Given the description of an element on the screen output the (x, y) to click on. 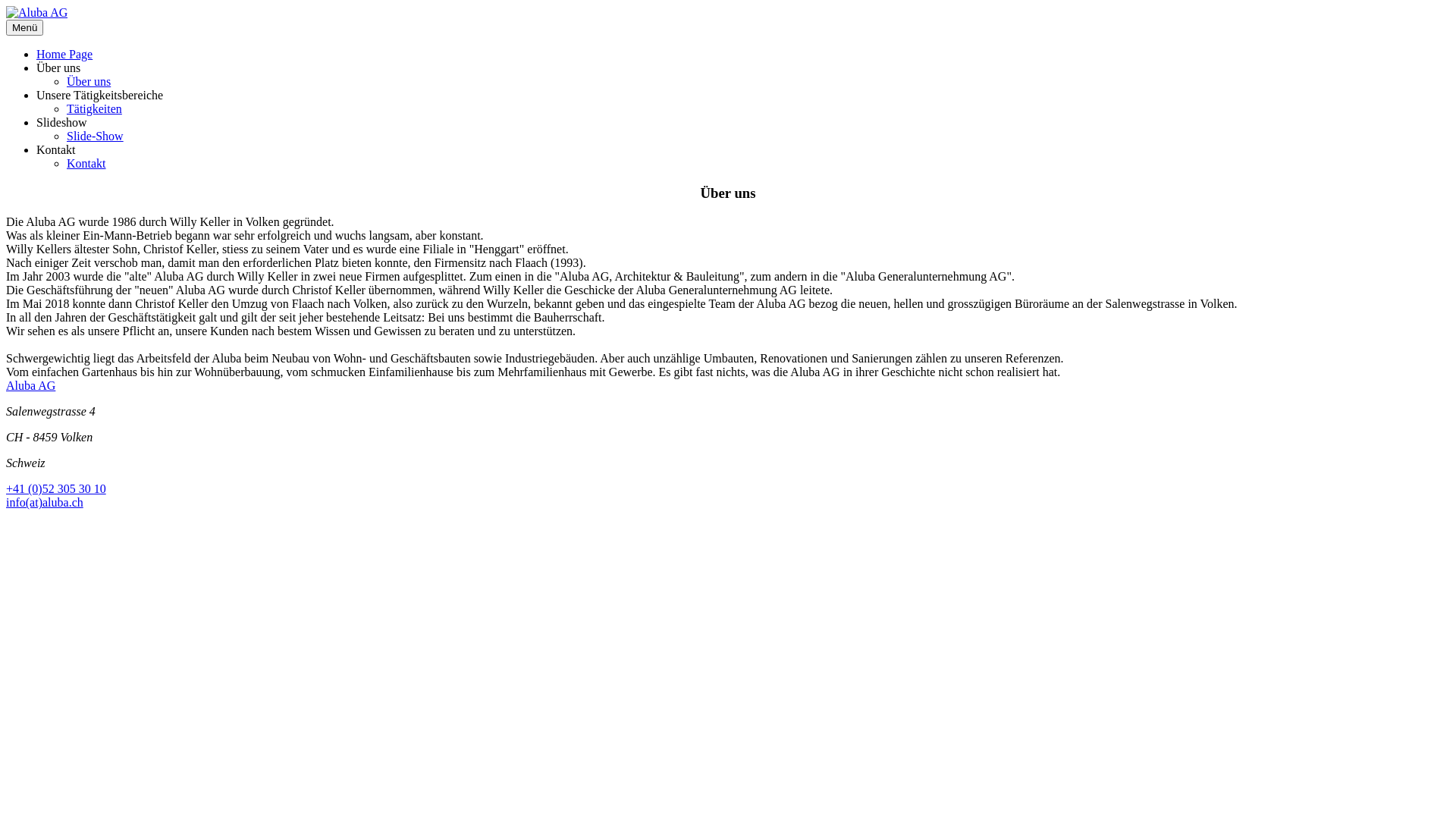
Slide-Show Element type: text (94, 135)
Aluba AG Element type: hover (36, 12)
Aluba AG Element type: text (30, 385)
Kontakt Element type: text (86, 162)
info(at)aluba.ch Element type: text (44, 501)
Home Page Element type: text (64, 53)
+41 (0)52 305 30 10 Element type: text (56, 488)
